Given the description of an element on the screen output the (x, y) to click on. 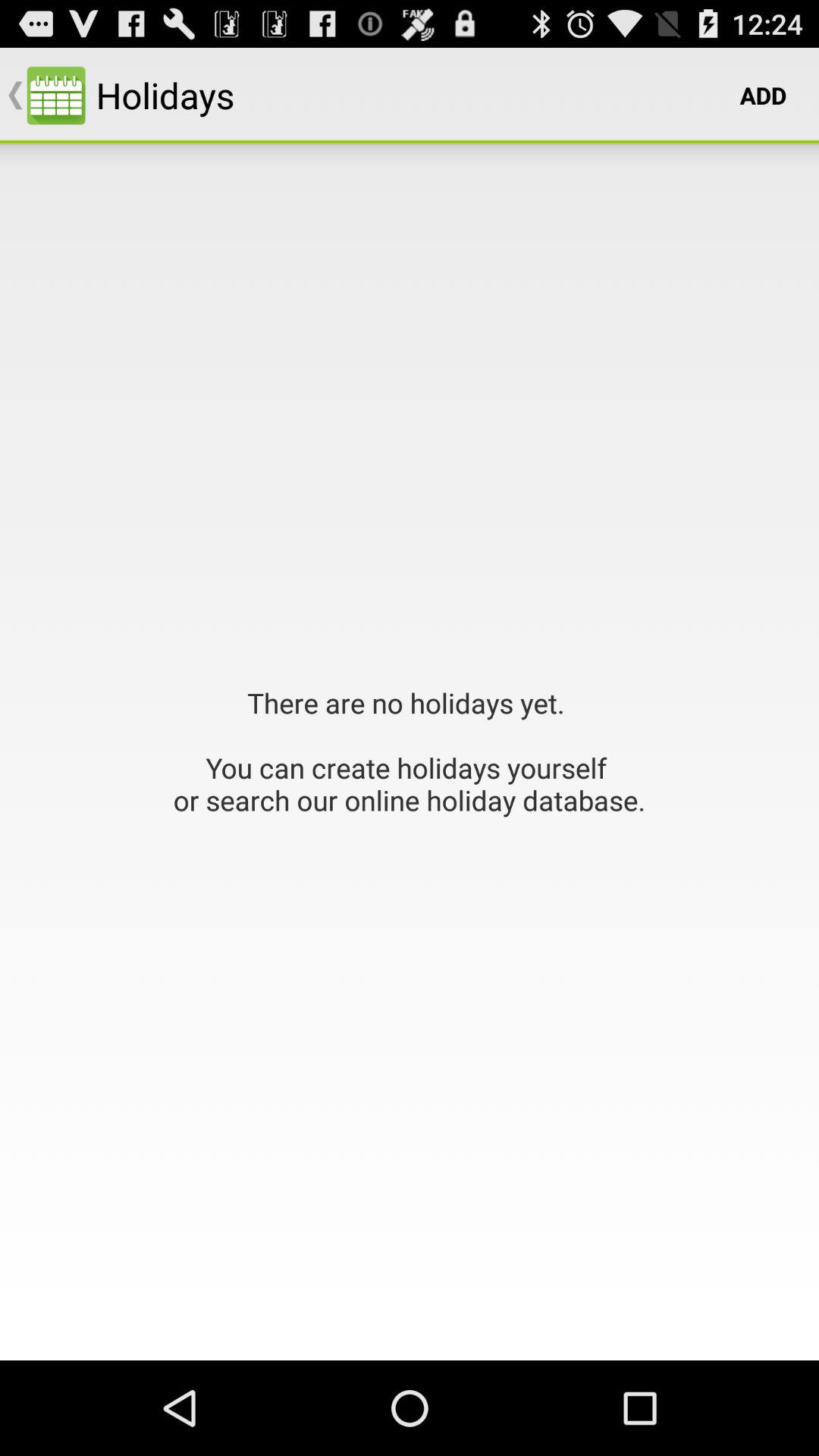
choose the add item (763, 95)
